Given the description of an element on the screen output the (x, y) to click on. 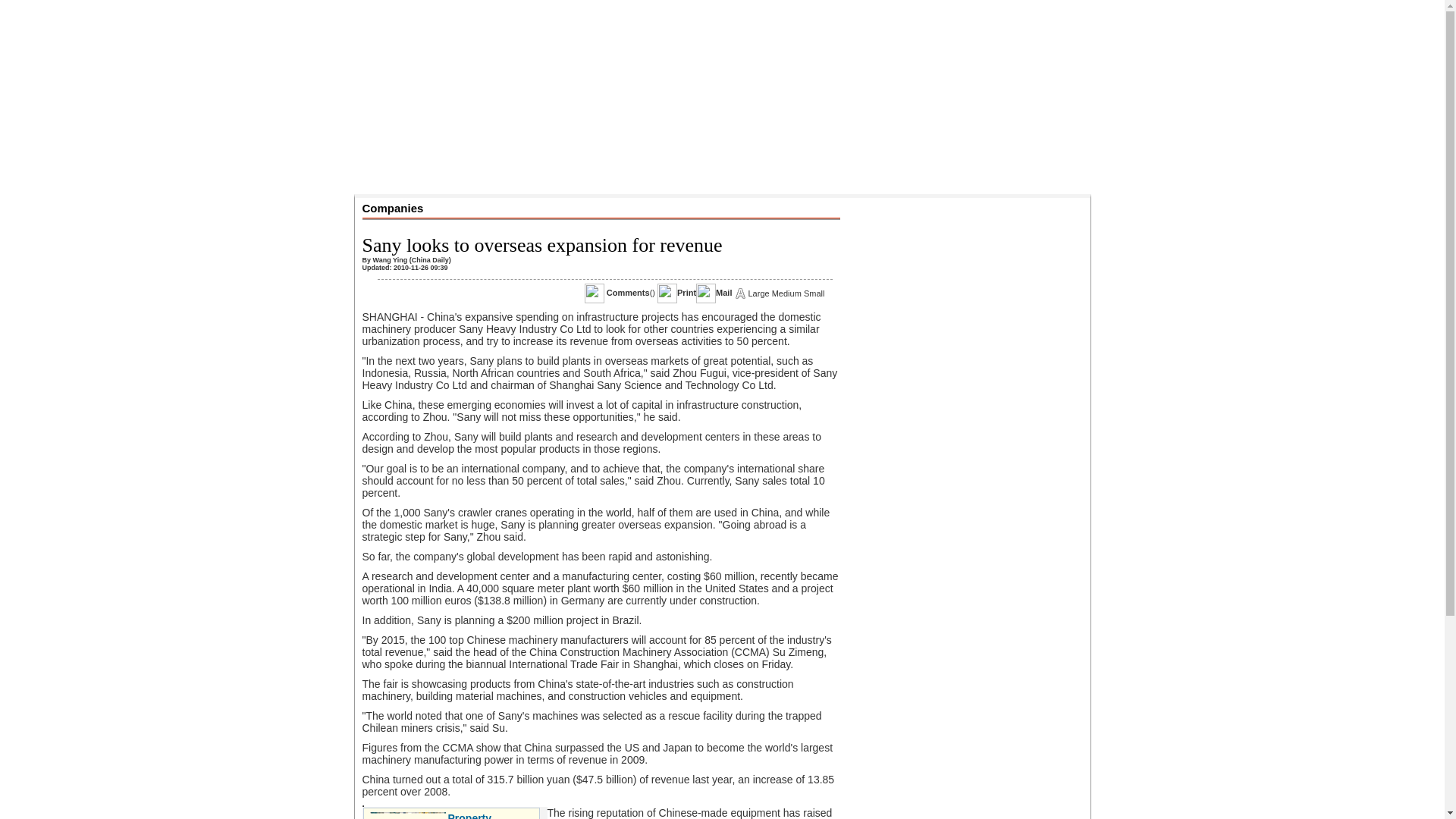
Mail (724, 292)
Large (758, 293)
Print (686, 292)
Property measures inspection launched (473, 815)
Small (814, 293)
Medium (786, 293)
